Given the description of an element on the screen output the (x, y) to click on. 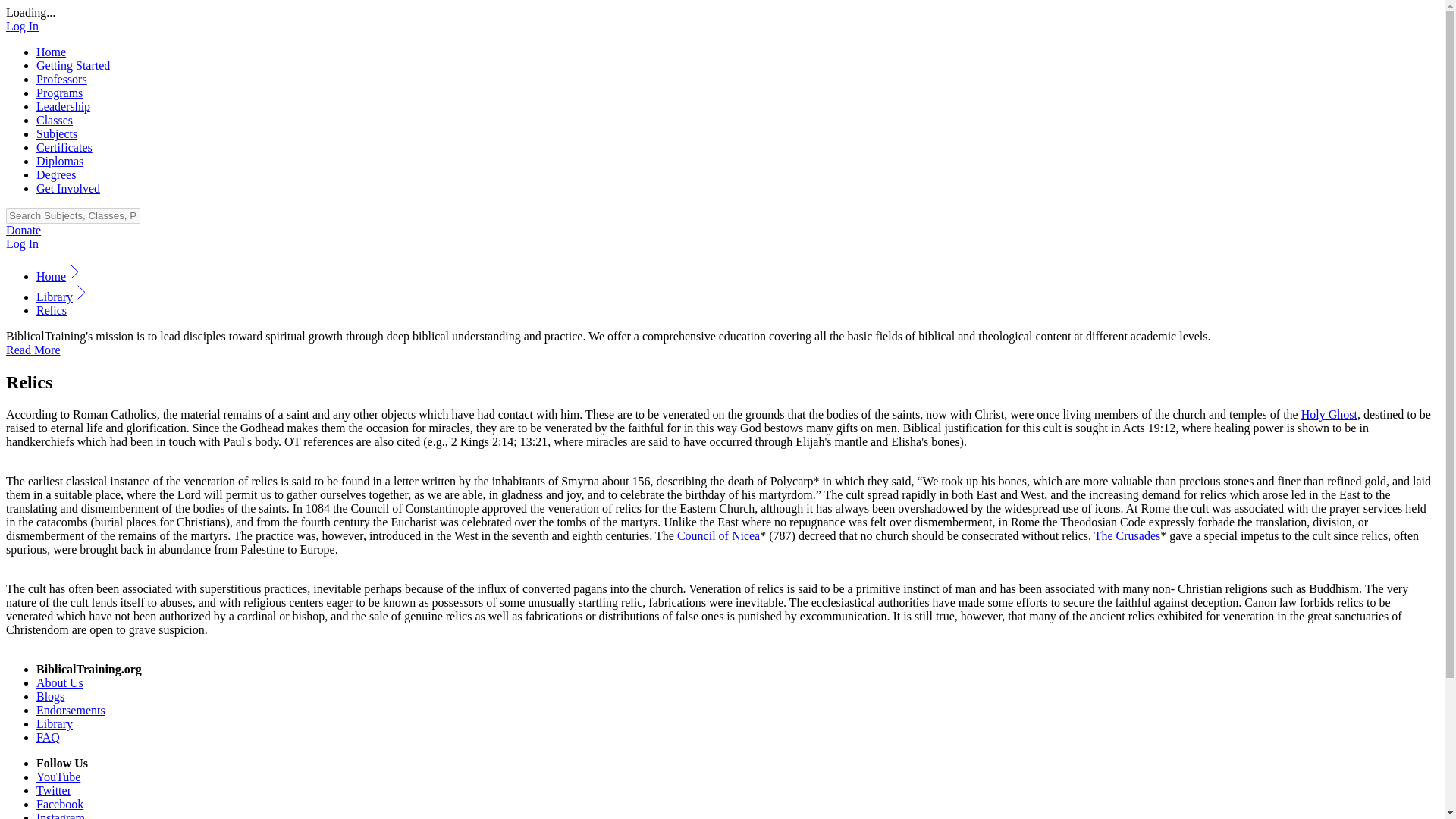
Leadership (63, 106)
Log In (22, 243)
Programs (59, 92)
Relics (51, 309)
Programs (59, 92)
Blogs (50, 696)
Council of Nicea (718, 535)
About Us (59, 682)
Diplomas (59, 160)
Library (54, 723)
